Given the description of an element on the screen output the (x, y) to click on. 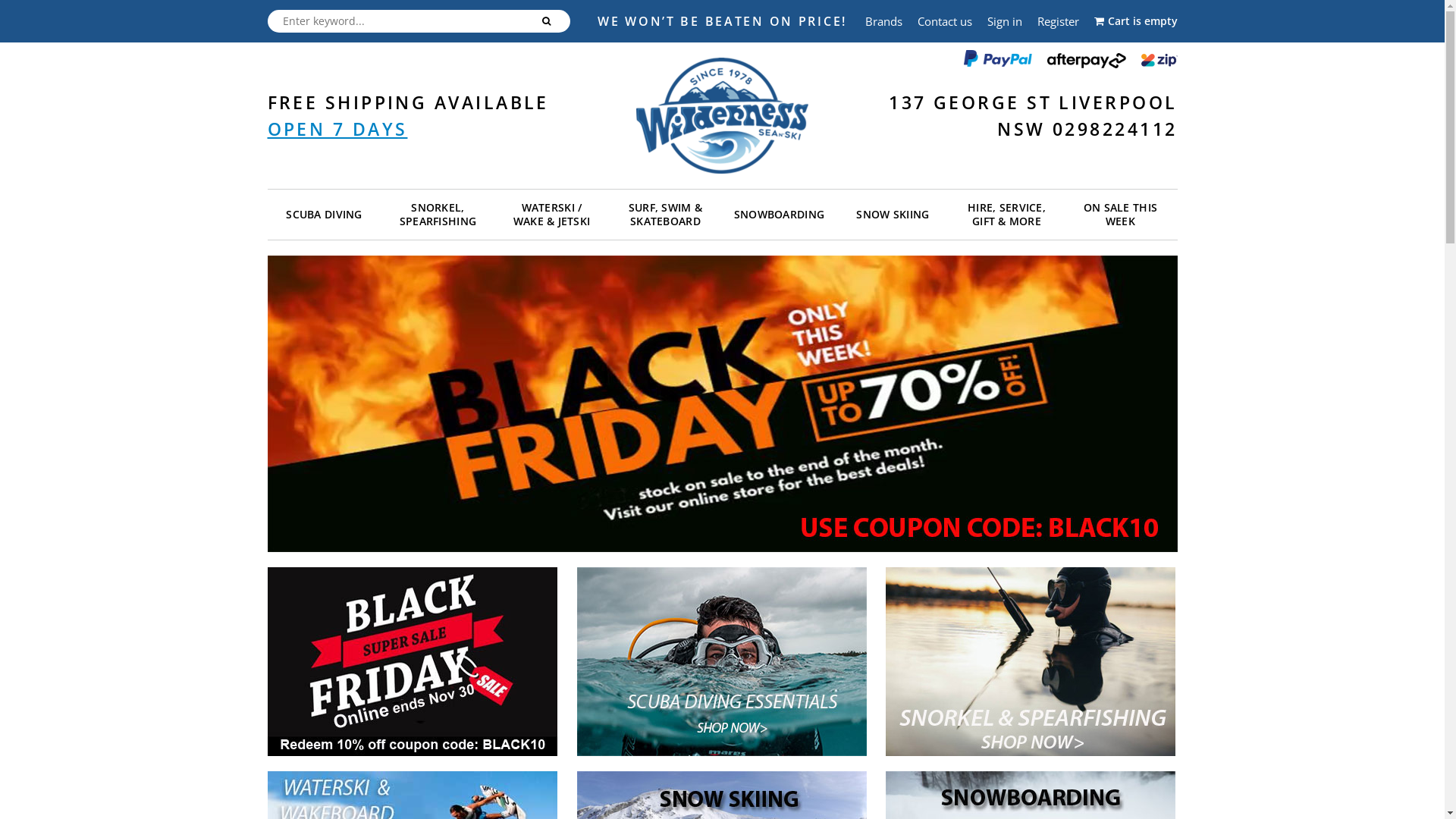
SNOW SKIING Element type: text (892, 216)
SNOWBOARDING Element type: text (778, 216)
Contact us Element type: text (944, 20)
WATERSKI / WAKE & JETSKI Element type: text (551, 216)
SNORKEL, SPEARFISHING Element type: text (437, 216)
ON SALE THIS WEEK Element type: text (1119, 216)
OPEN 7 DAYS Element type: text (336, 128)
HIRE, SERVICE, GIFT & MORE Element type: text (1006, 216)
SCUBA DIVING Element type: text (323, 216)
Register Element type: text (1058, 20)
Sign in Element type: text (1004, 20)
SURF, SWIM & SKATEBOARD Element type: text (664, 216)
  Element type: text (547, 20)
Brands Element type: text (882, 20)
